Given the description of an element on the screen output the (x, y) to click on. 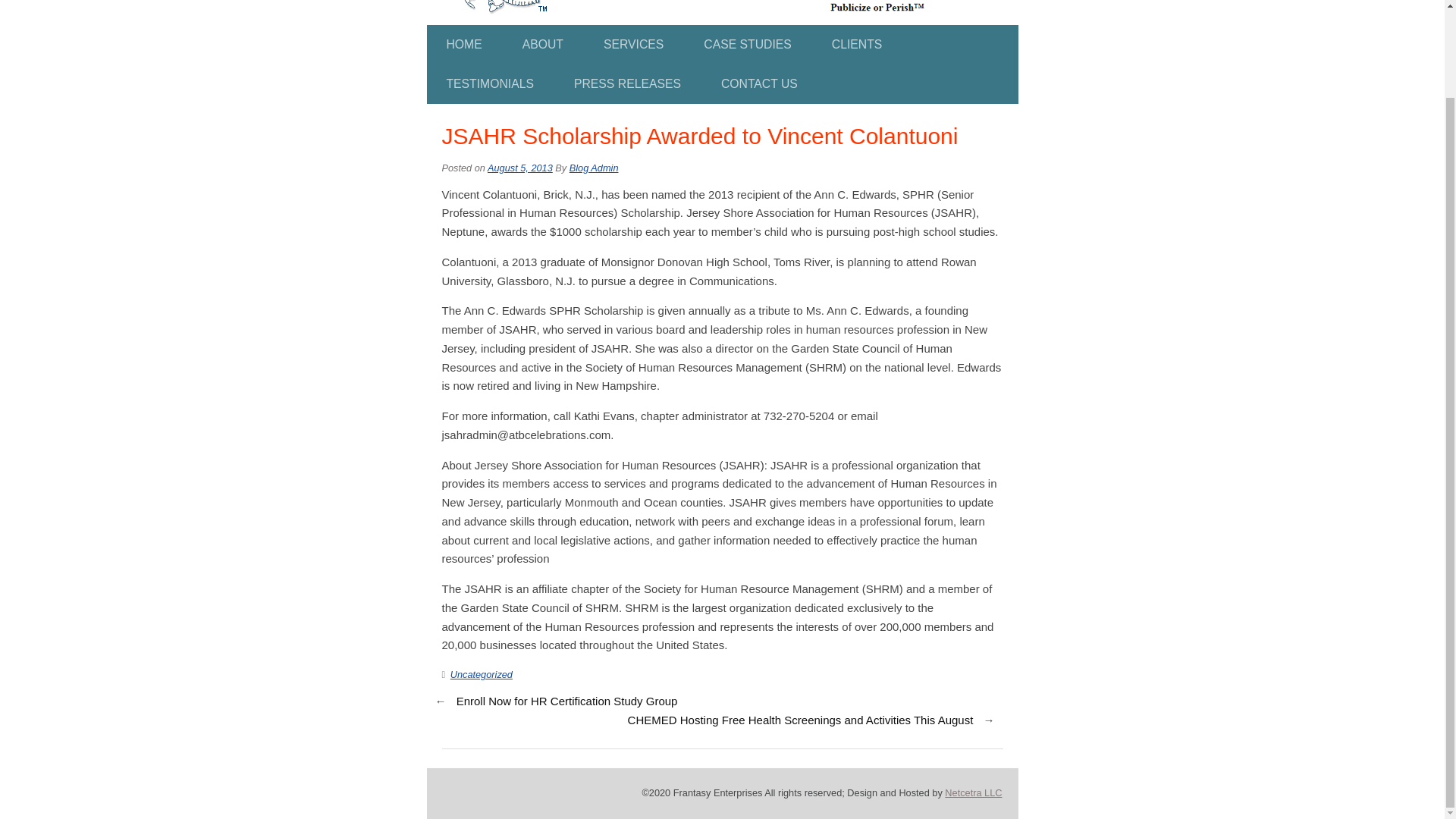
ABOUT (542, 44)
HOME (463, 44)
CASE STUDIES (747, 44)
Blog Admin (593, 167)
TESTIMONIALS (489, 84)
Uncategorized (480, 674)
PRESS RELEASES (627, 84)
August 5, 2013 (520, 167)
Enroll Now for HR Certification Study Group (566, 700)
Posts by Blog Admin (593, 167)
